Given the description of an element on the screen output the (x, y) to click on. 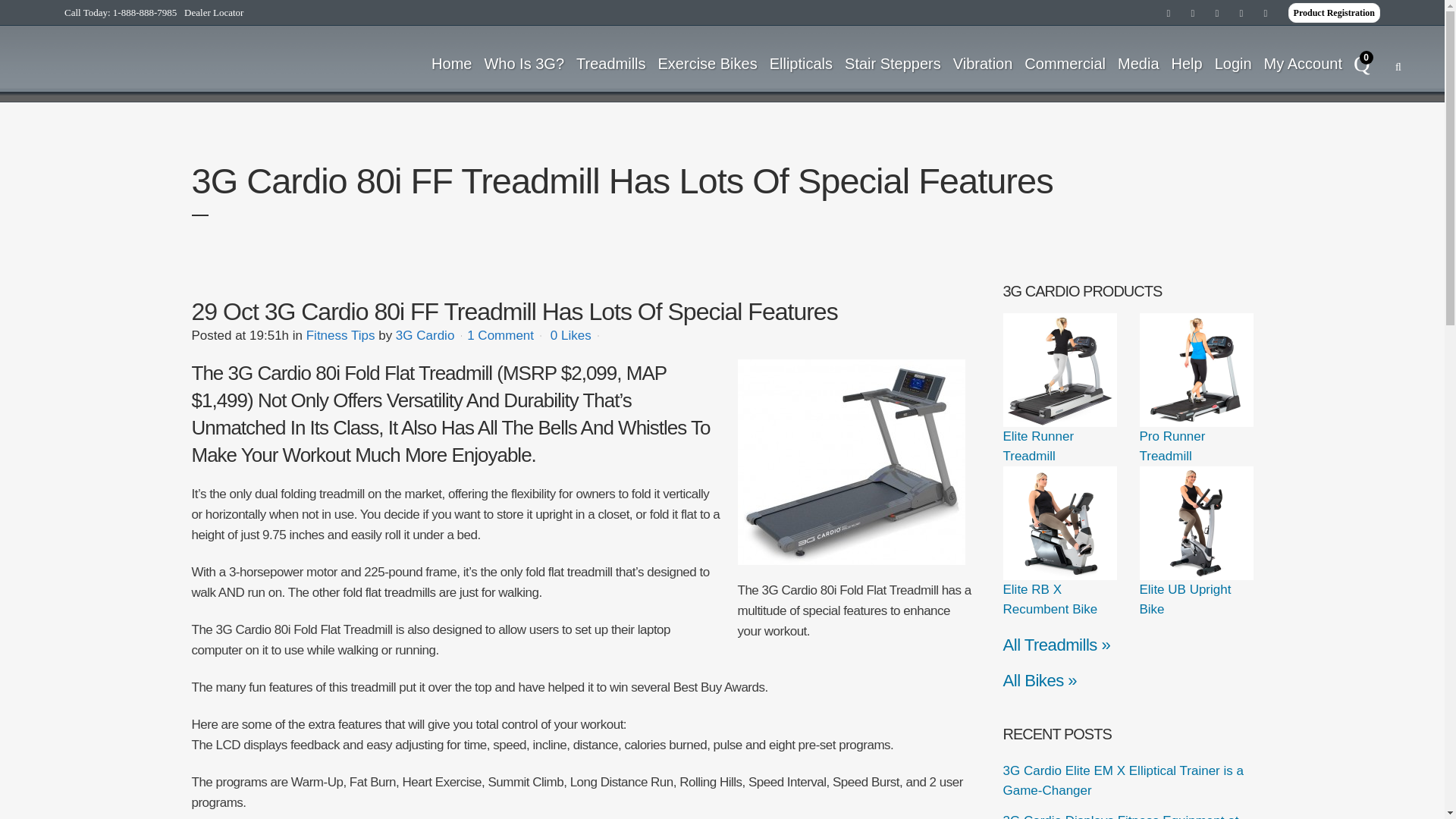
Call Today: 1-888-888-7985 (120, 12)
Ellipticals (800, 63)
Stair Steppers (892, 63)
Vibration (983, 63)
Like this (570, 335)
Who Is 3G? (523, 63)
Commercial (1064, 63)
Treadmills (611, 63)
Dealer Locator (213, 12)
Product Registration (1334, 12)
Exercise Bikes (707, 63)
